Given the description of an element on the screen output the (x, y) to click on. 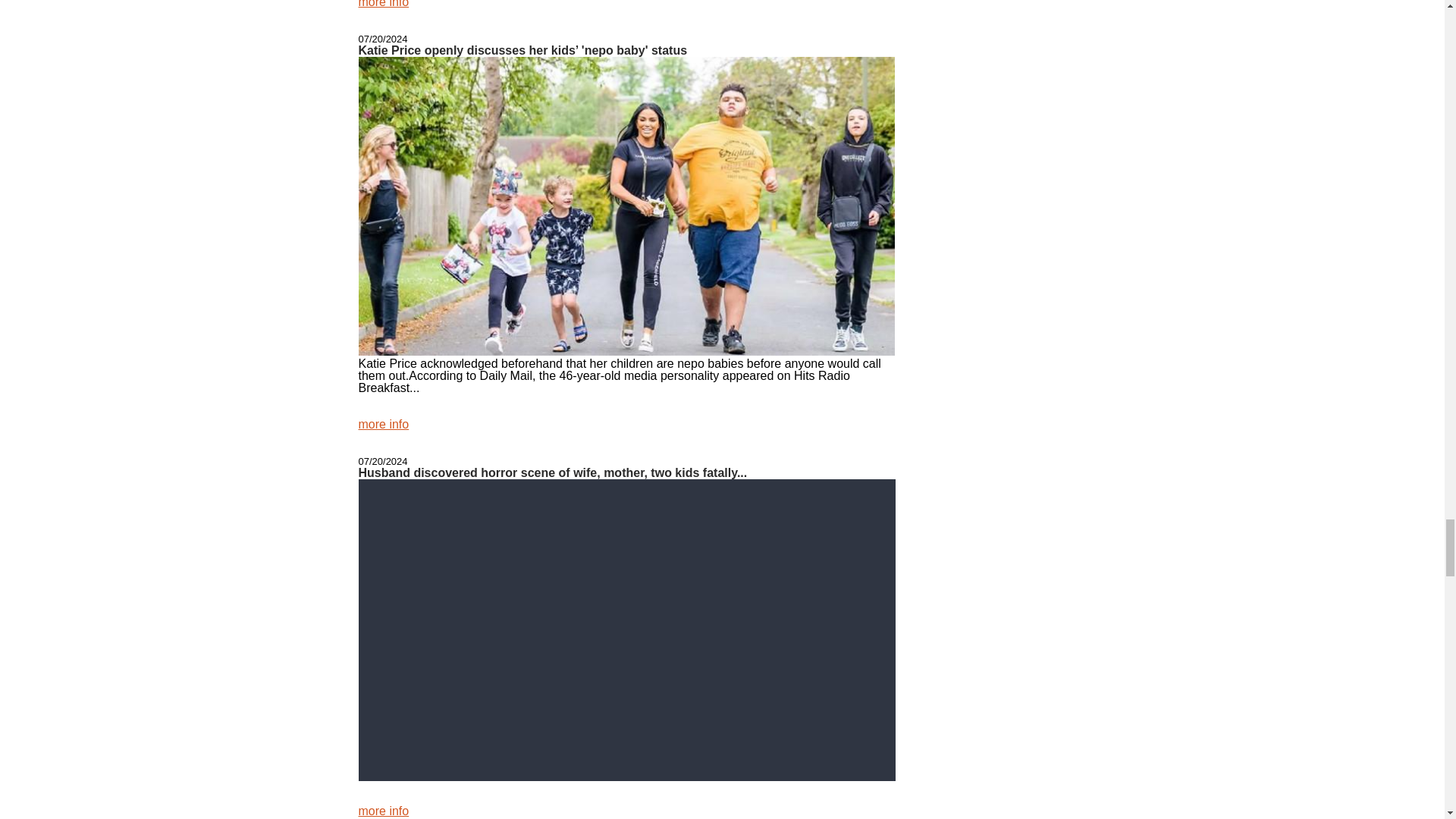
more info (383, 810)
more info (383, 4)
more info (383, 423)
